Given the description of an element on the screen output the (x, y) to click on. 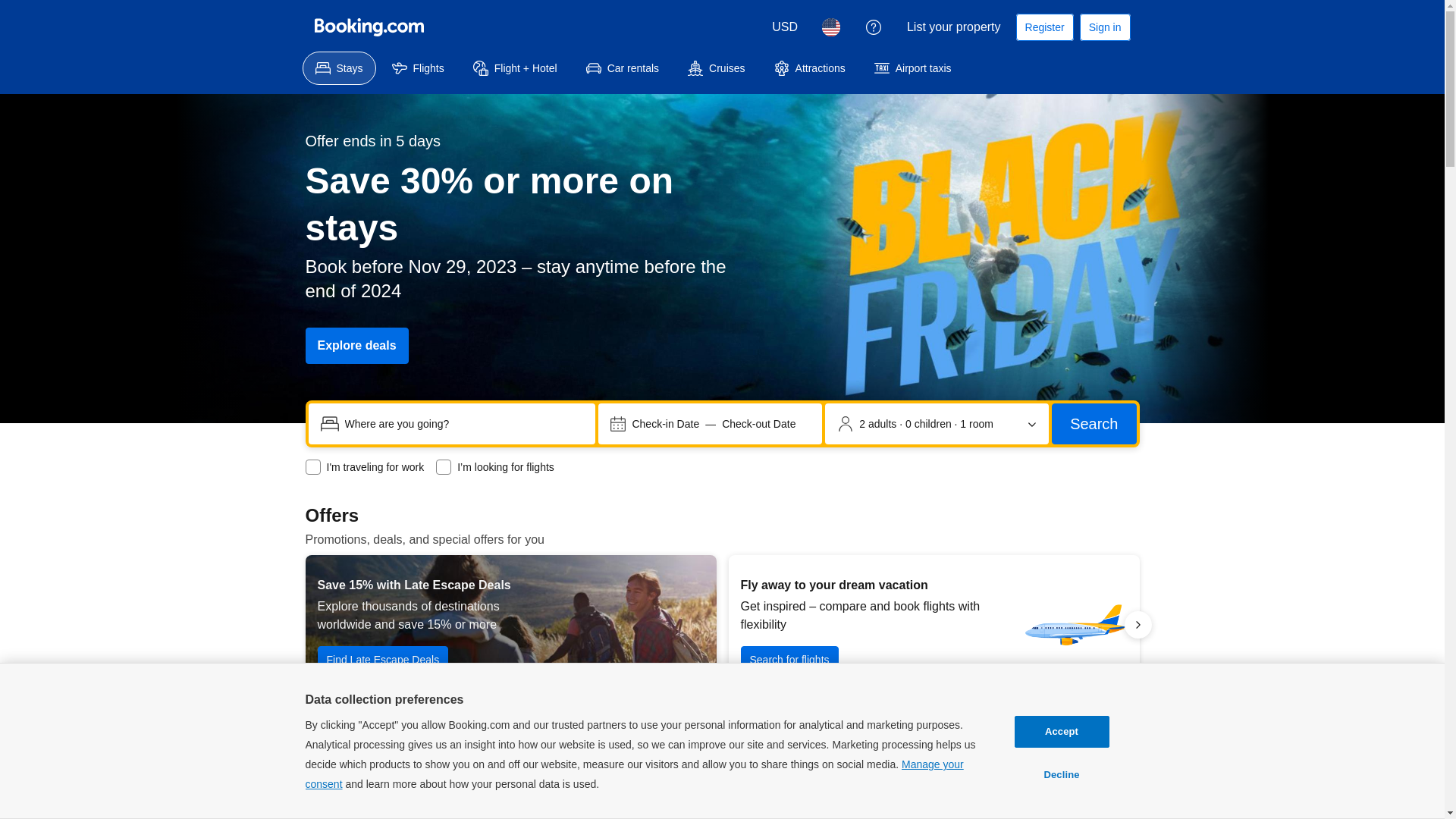
Airport taxis Element type: text (912, 67)
Check-out Date Element type: text (758, 423)
Attractions Element type: text (809, 67)
List your property Element type: text (953, 27)
Find a stay Element type: text (1198, 668)
Cruises Element type: text (715, 67)
Find Late Escape Deals Element type: text (382, 659)
Sign in Element type: text (1104, 26)
Check-in Date Element type: text (665, 423)
Stays Element type: text (338, 67)
Search for flights Element type: text (788, 659)
Discover homes Element type: text (1101, 759)
USD Element type: text (784, 27)
Flights Element type: text (418, 67)
Register Element type: text (1044, 26)
Explore deals Element type: text (355, 345)
Flight + Hotel Element type: text (515, 67)
Search Element type: text (1093, 423)
Car rentals Element type: text (622, 67)
